Given the description of an element on the screen output the (x, y) to click on. 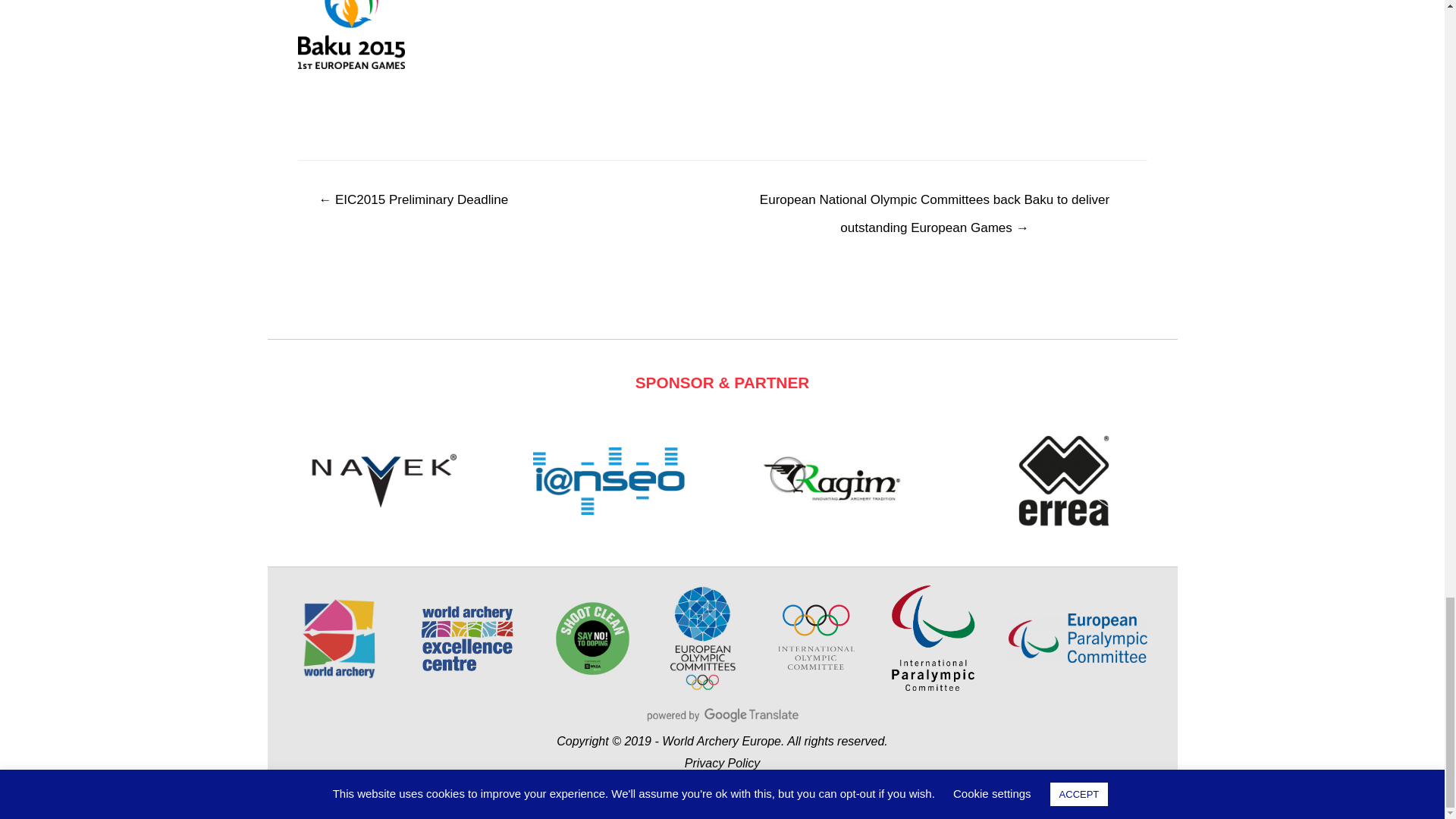
european-olympic-committees-EOC-new-logo-design-3 (701, 637)
worldarchery (338, 638)
WADA2 (592, 638)
logoRagim (835, 481)
WorldArcheryExcellenceCenter (467, 638)
IOC-logo (816, 637)
ianseo (608, 481)
